Given the description of an element on the screen output the (x, y) to click on. 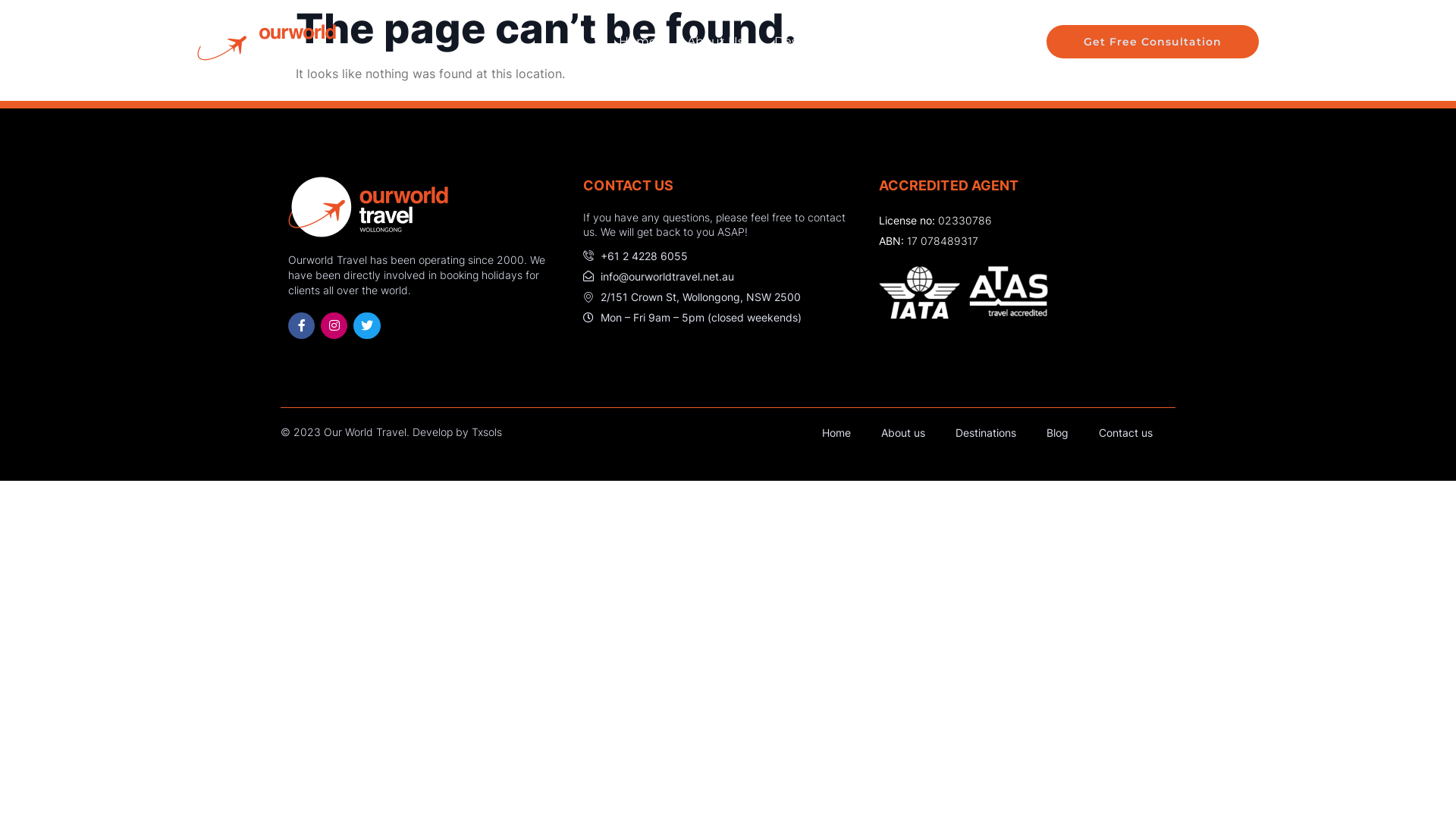
iata, atas Element type: hover (963, 292)
Home Element type: text (637, 41)
info@ourworldtravel.net.au Element type: text (722, 276)
About Us Element type: text (715, 41)
Blog Element type: text (1057, 432)
Blog Element type: text (910, 41)
Home Element type: text (836, 432)
Destinations Element type: text (820, 41)
footer_logo Element type: hover (368, 206)
Contact Us Element type: text (989, 41)
About us Element type: text (903, 432)
+61 2 4228 6055 Element type: text (722, 255)
Destinations Element type: text (985, 432)
Contact us Element type: text (1125, 432)
2/151 Crown St, Wollongong, NSW 2500 Element type: text (722, 296)
Develop by Txsols Element type: text (457, 431)
footer_logo Element type: hover (266, 41)
Get Free Consultation Element type: text (1152, 41)
